Given the description of an element on the screen output the (x, y) to click on. 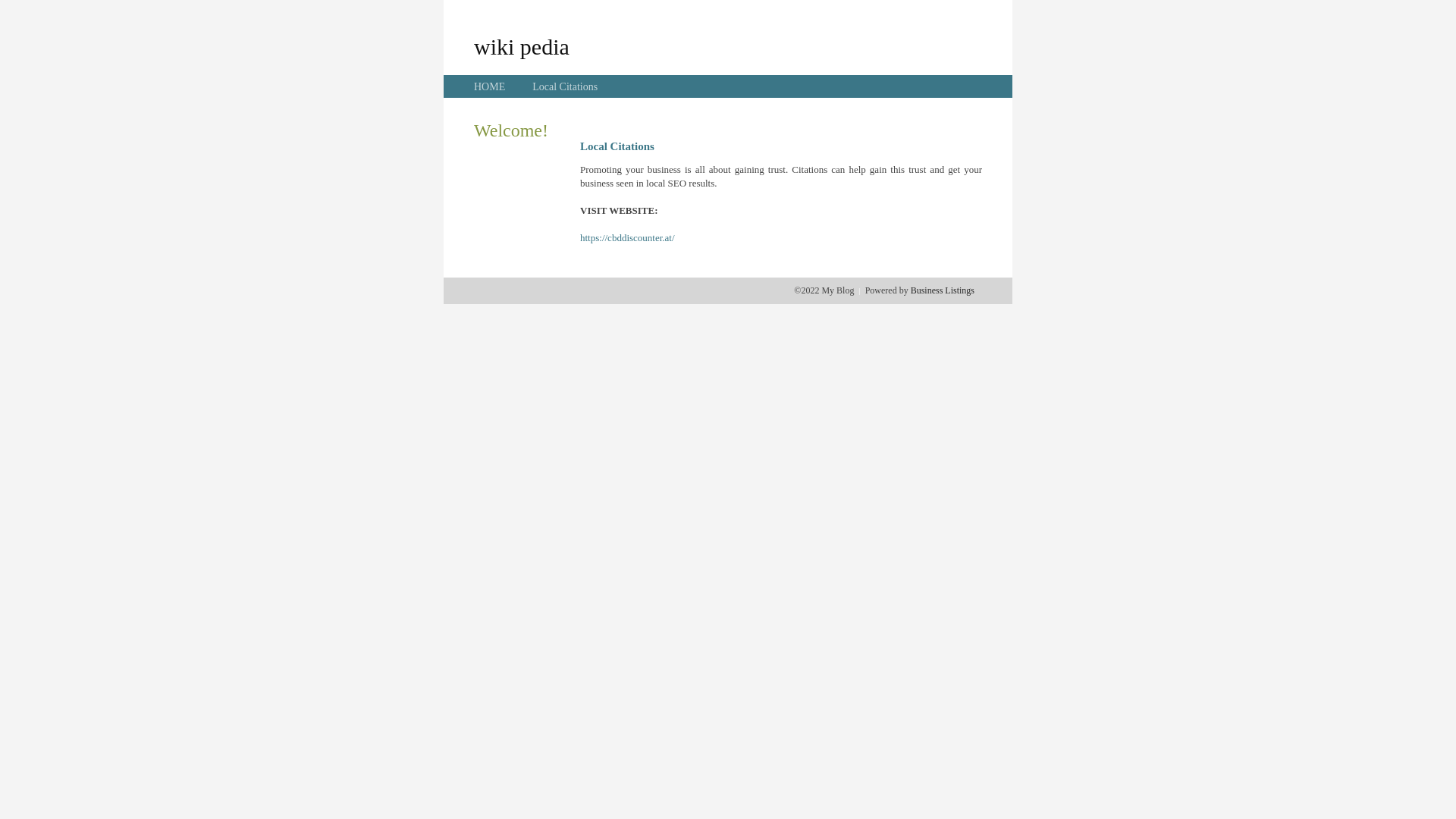
wiki pedia Element type: text (521, 46)
Local Citations Element type: text (564, 86)
HOME Element type: text (489, 86)
https://cbddiscounter.at/ Element type: text (627, 237)
Business Listings Element type: text (942, 290)
